Given the description of an element on the screen output the (x, y) to click on. 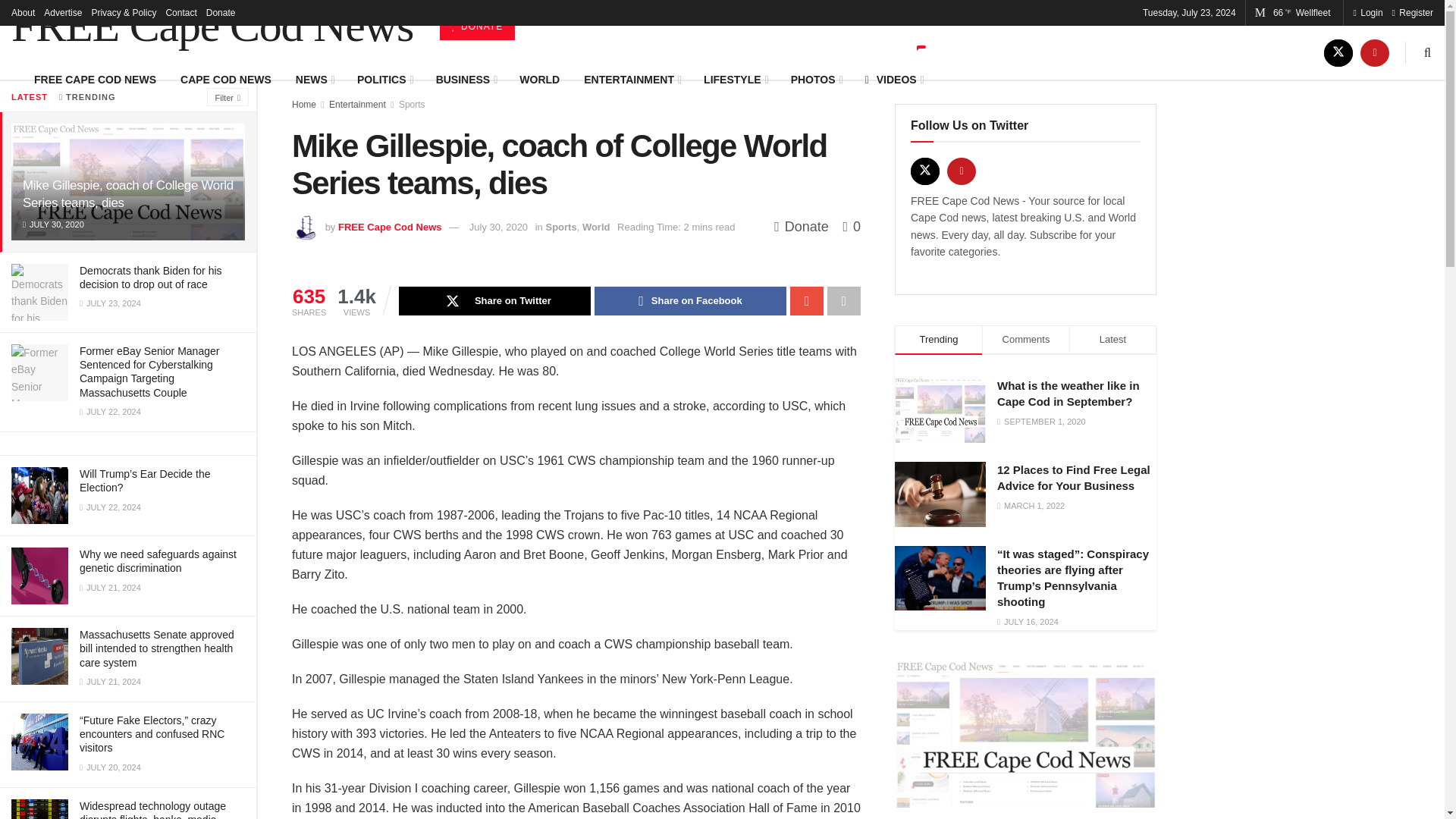
DONATE (477, 25)
Filter (227, 96)
Mike Gillespie, coach of College World Series teams, dies (127, 193)
Register (1411, 12)
Advertise (62, 12)
Donate (220, 12)
Why we need safeguards against genetic discrimination (157, 560)
FREE Cape Cod News (212, 25)
Contact (180, 12)
Login (1366, 12)
About (22, 12)
Democrats thank Biden for his decision to drop out of race (151, 277)
